Given the description of an element on the screen output the (x, y) to click on. 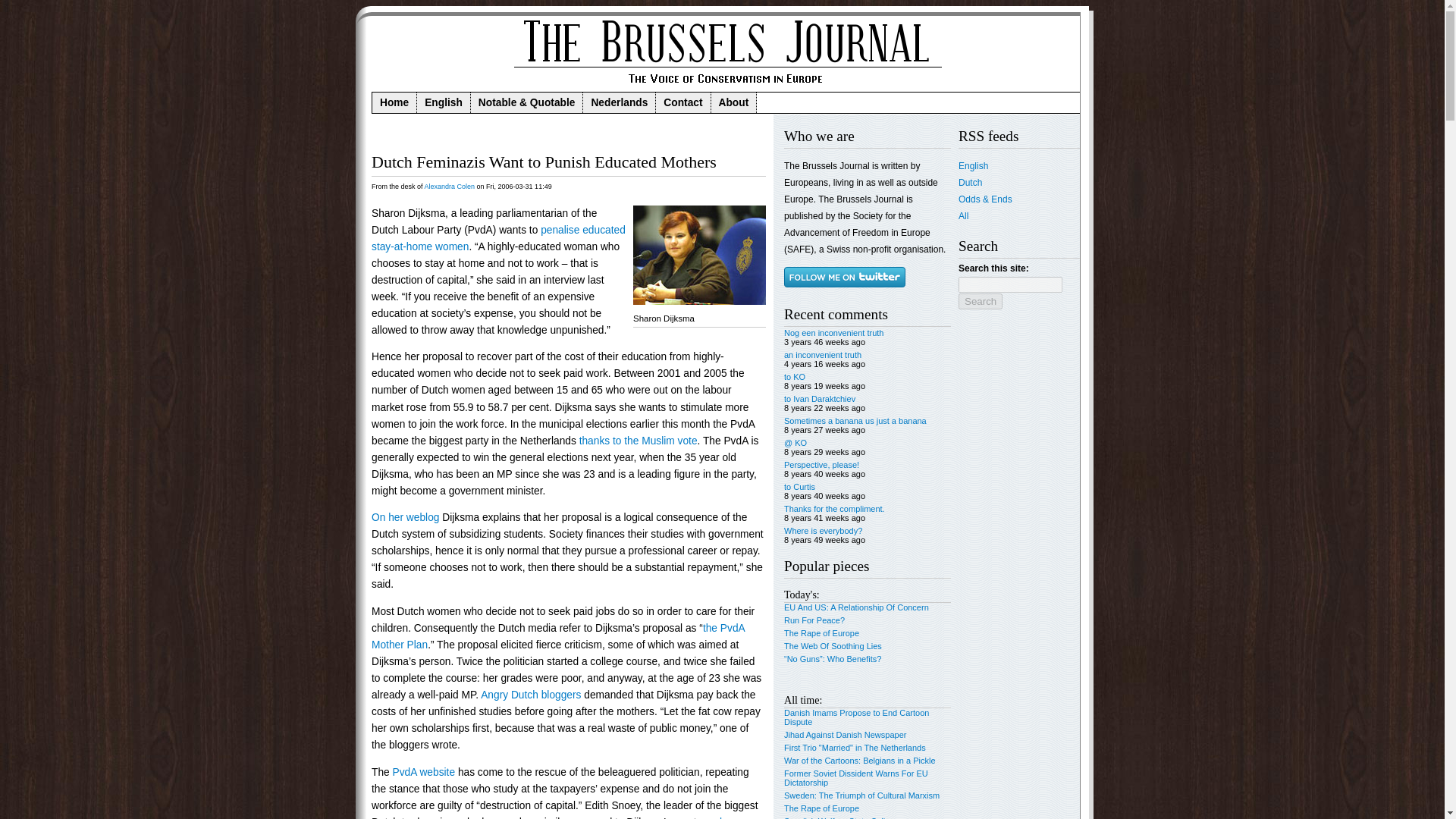
penalise educated stay-at-home women (498, 238)
thanks to the Muslim vote (638, 440)
PvdA website (424, 772)
sharon-dijksma.jpg (699, 254)
On her weblog (405, 517)
Nederlands (619, 102)
Contact (683, 102)
Home (394, 102)
English (443, 102)
Home (725, 88)
Enter the terms you wish to search for. (1010, 284)
Search (980, 301)
About (734, 102)
the PvdA Mother Plan (557, 636)
